Given the description of an element on the screen output the (x, y) to click on. 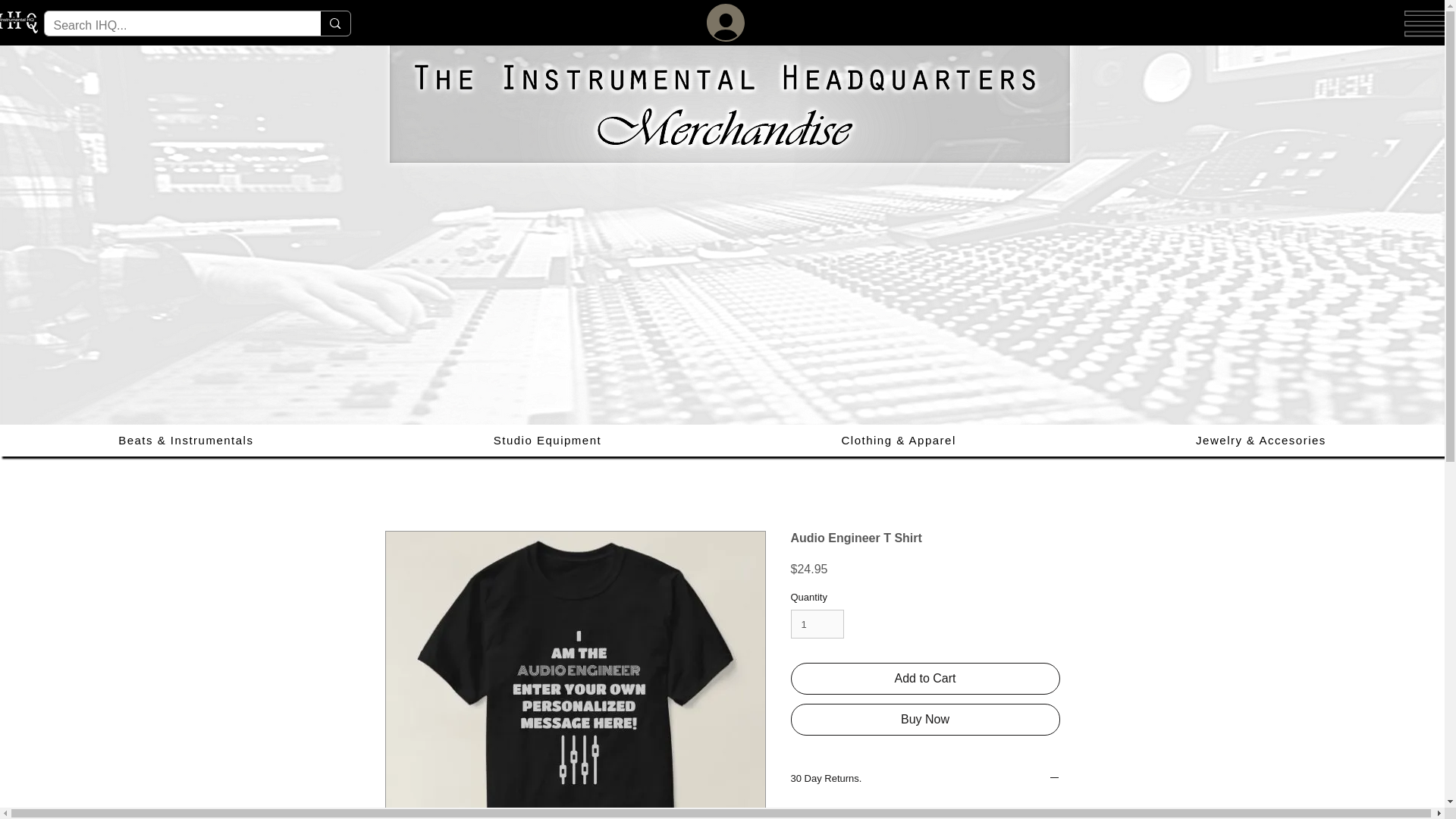
Buy Now (924, 719)
Log In (722, 22)
Add to Cart (924, 678)
30 Day Returns. (924, 779)
1 (817, 623)
